Given the description of an element on the screen output the (x, y) to click on. 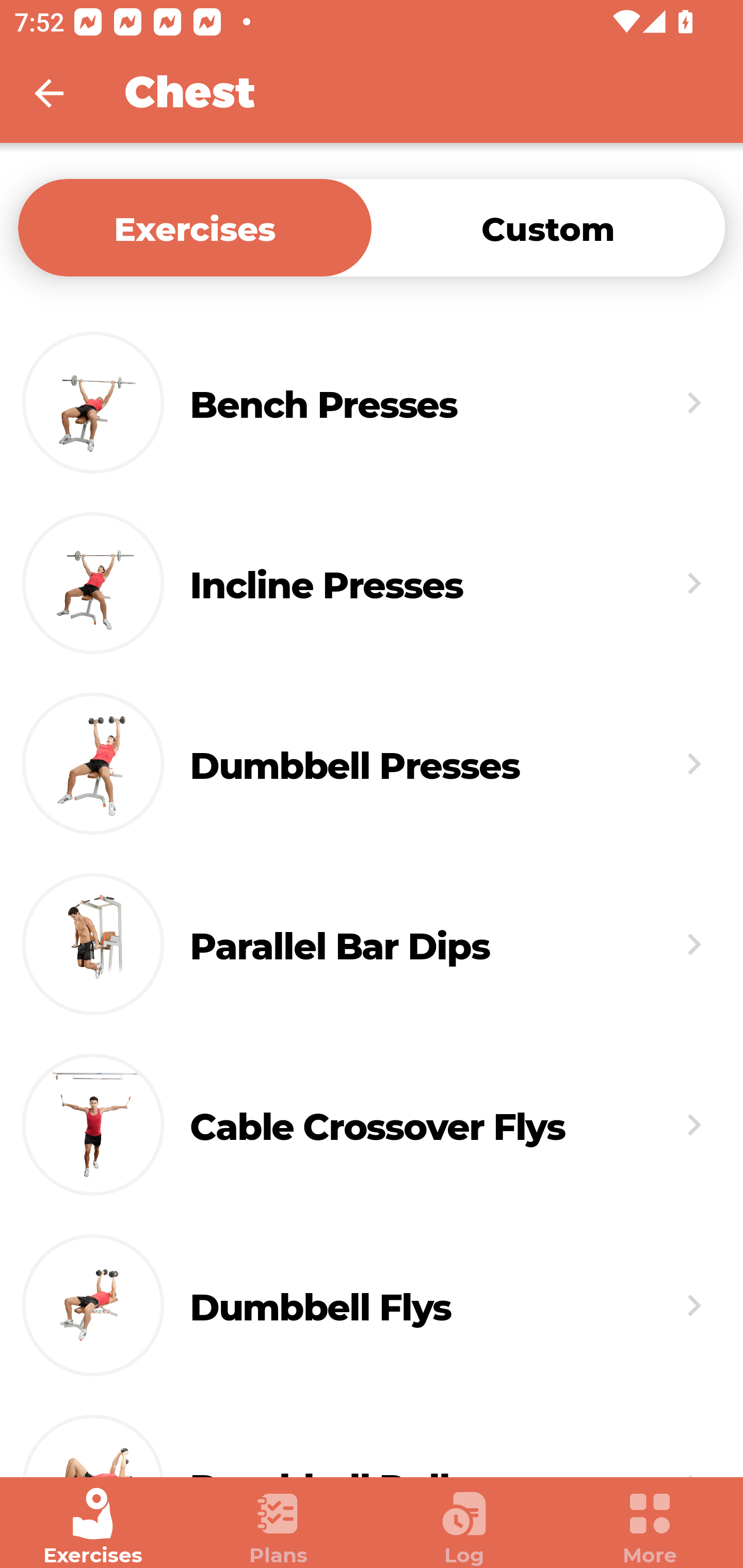
Back (62, 92)
Exercises (194, 226)
Custom (548, 226)
Exercises (92, 1527)
Plans (278, 1527)
Log (464, 1527)
More (650, 1527)
